Given the description of an element on the screen output the (x, y) to click on. 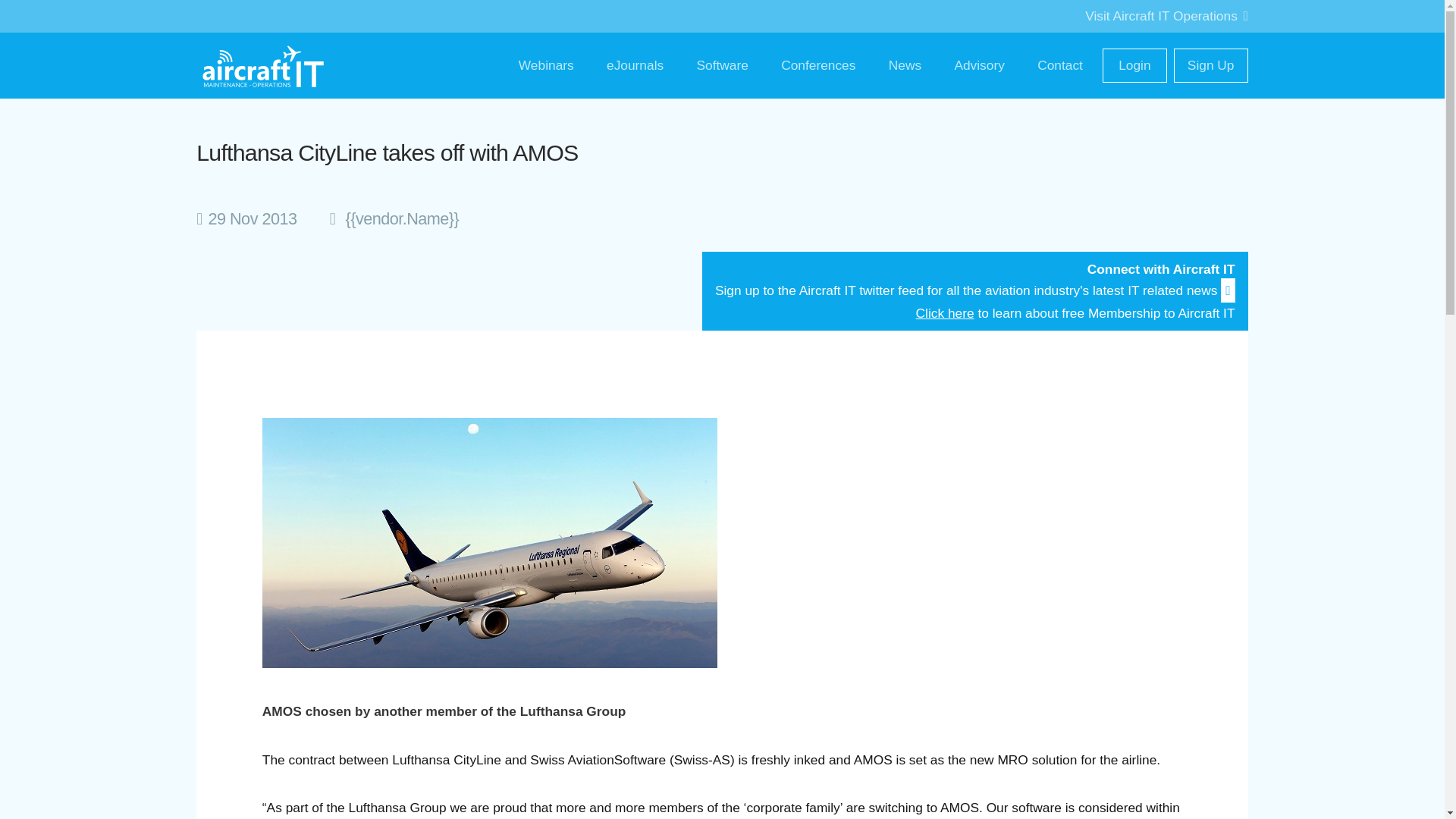
Contact (1060, 65)
eJournals (635, 65)
Visit Aircraft IT Operations (1165, 15)
Login (1134, 65)
Sign Up (1210, 65)
News (904, 65)
Conferences (818, 65)
Software (721, 65)
Webinars (545, 65)
Click here (944, 313)
Advisory (978, 65)
